Given the description of an element on the screen output the (x, y) to click on. 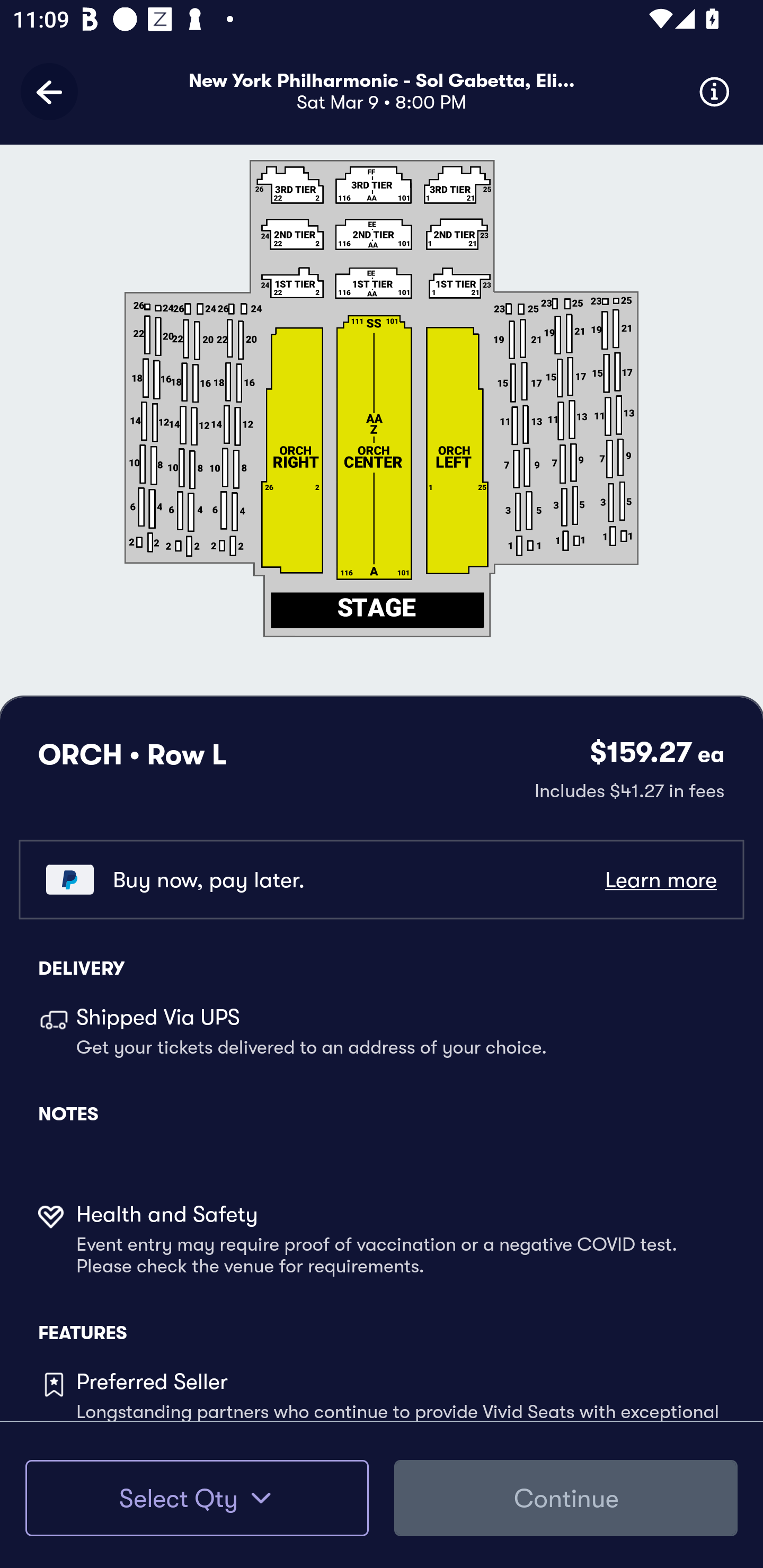
Learn more (660, 880)
Select Qty (196, 1497)
Continue (565, 1497)
